Given the description of an element on the screen output the (x, y) to click on. 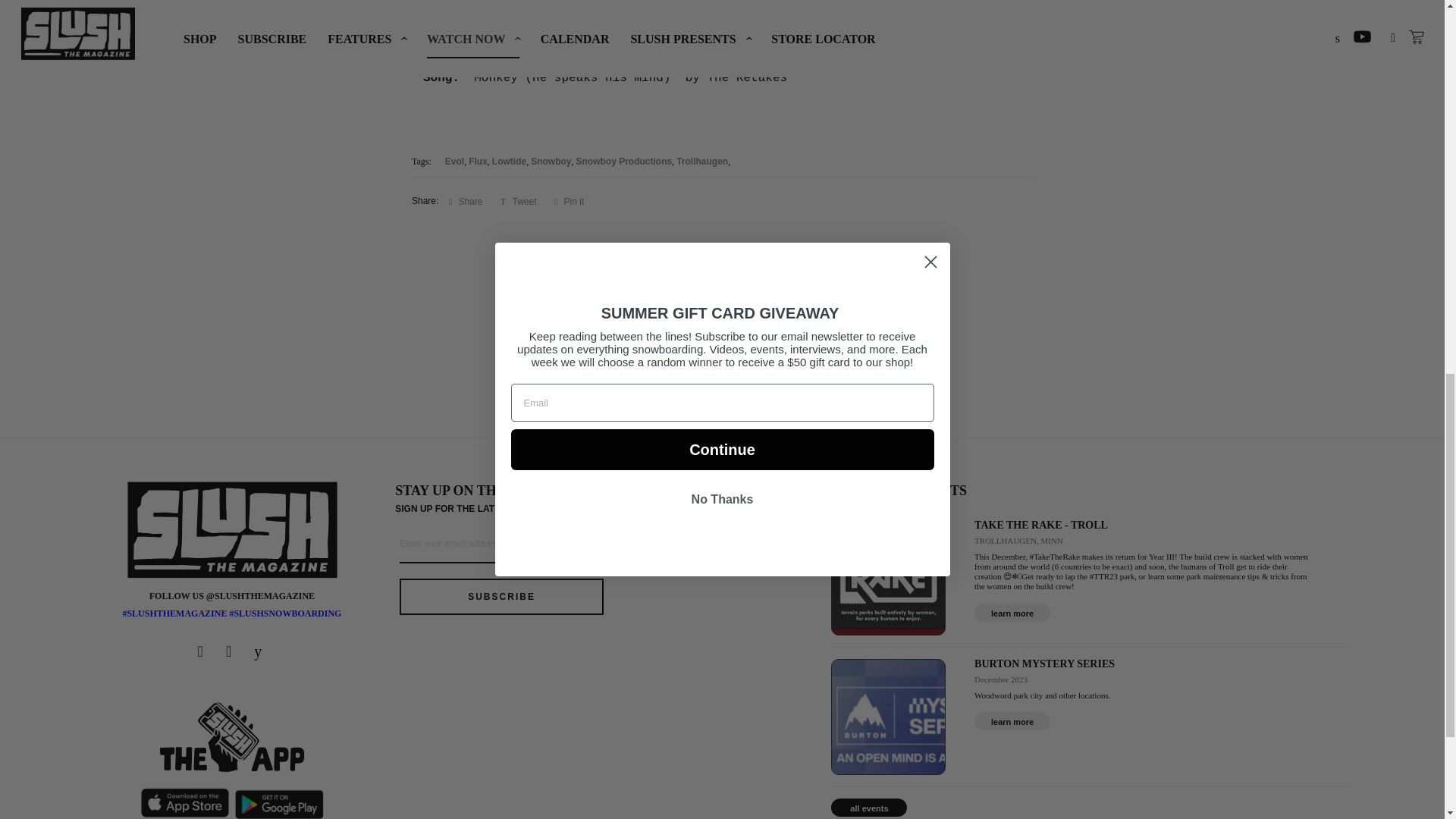
Share on Facebook (465, 200)
Slush Magazine on Instagram (230, 651)
Slush Magazine on YouTube (259, 651)
Tweet on Twitter (518, 200)
Events links (1011, 720)
Slush Magazine on Facebook (202, 651)
Events links (1011, 612)
Pin on Pinterest (569, 200)
